Given the description of an element on the screen output the (x, y) to click on. 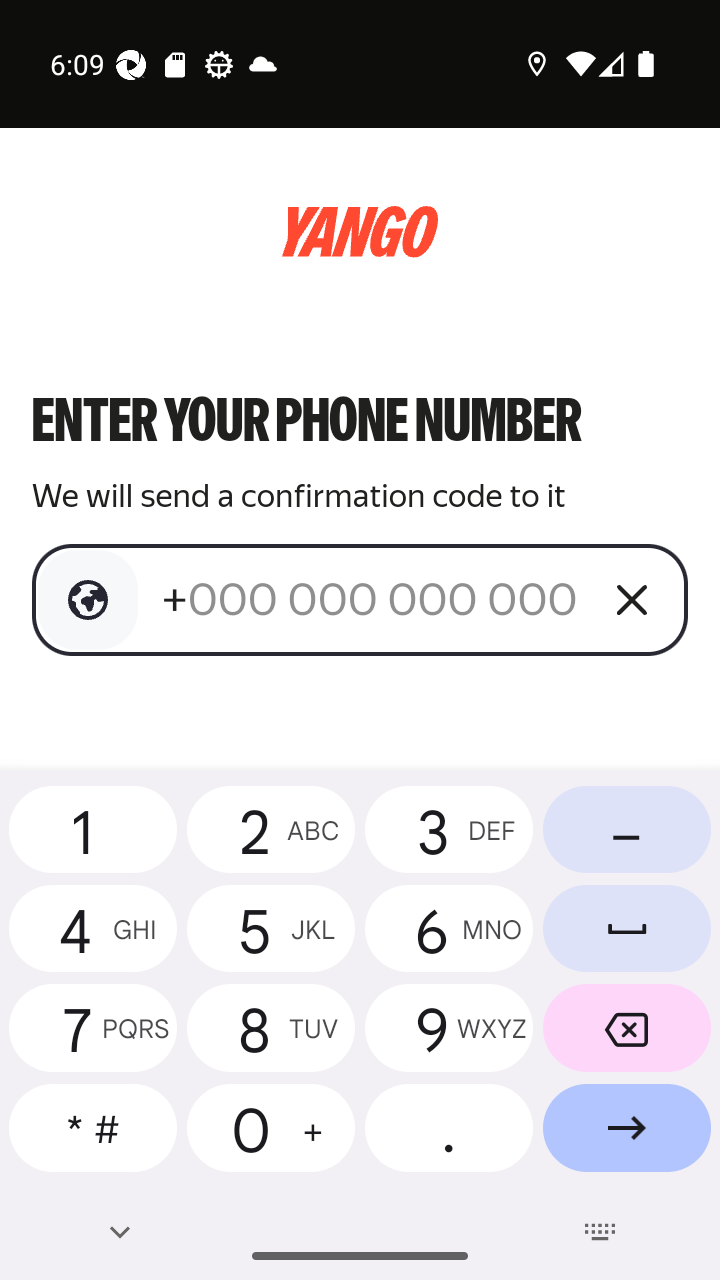
logo (359, 231)
  (88, 600)
+ (372, 599)
